Given the description of an element on the screen output the (x, y) to click on. 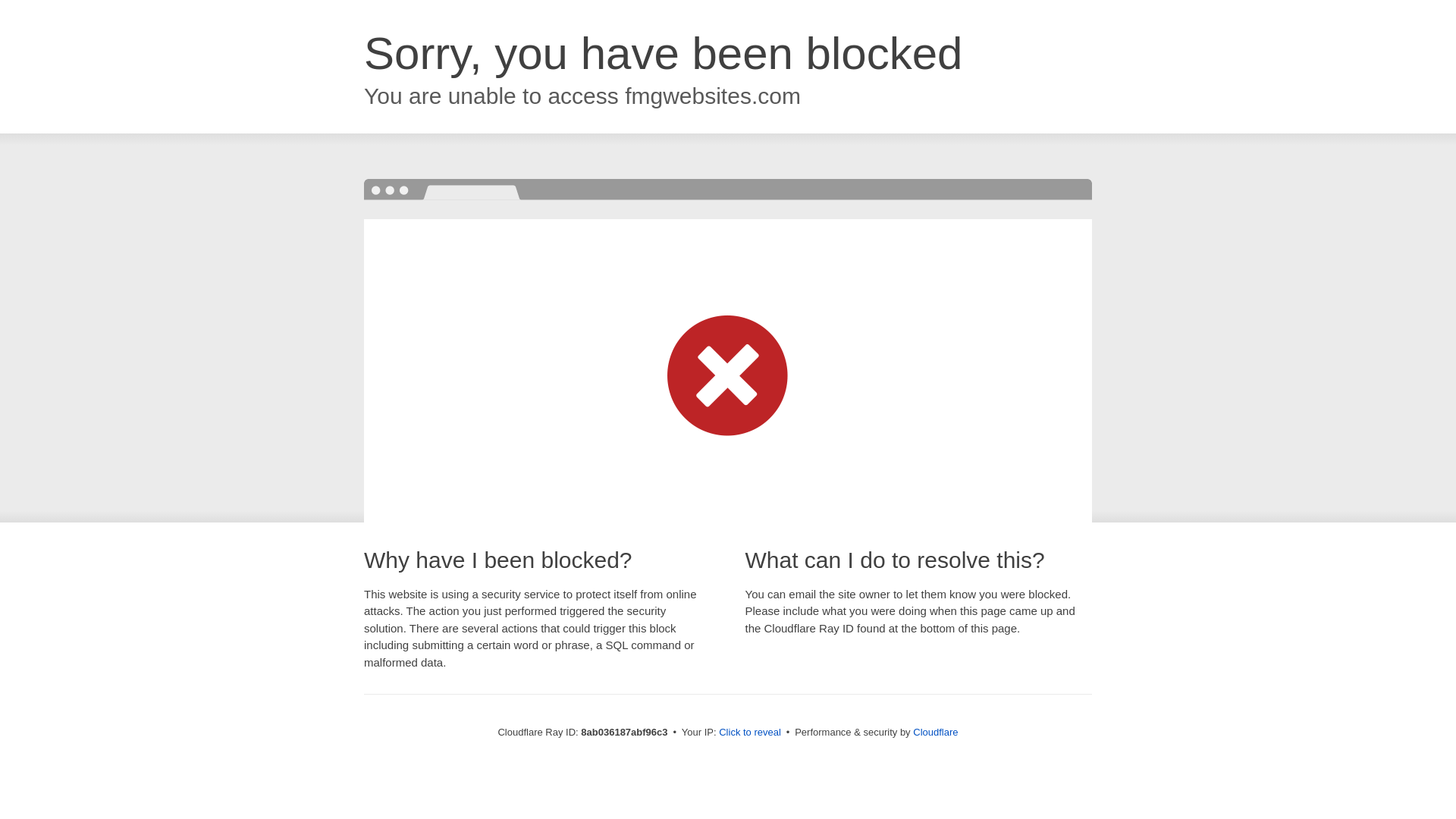
Cloudflare (935, 731)
Click to reveal (749, 732)
